Given the description of an element on the screen output the (x, y) to click on. 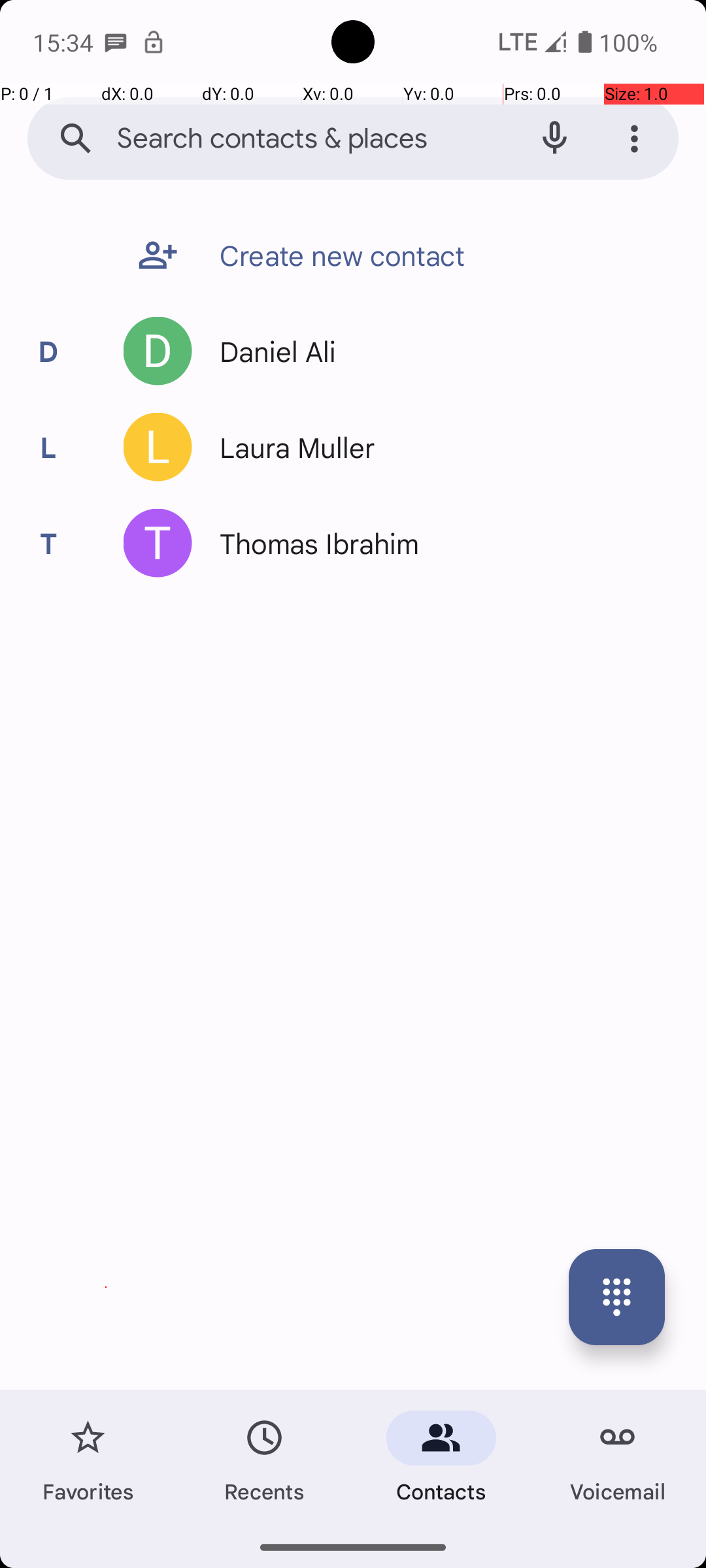
key pad Element type: android.widget.ImageButton (616, 1297)
Recents Element type: android.widget.FrameLayout (264, 1457)
Voicemail Element type: android.widget.FrameLayout (617, 1457)
Create new contact Element type: android.widget.TextView (335, 254)
Quick contact for Daniel Ali Element type: android.widget.QuickContactBadge (157, 350)
Daniel Ali Element type: android.widget.TextView (270, 350)
Quick contact for Laura Muller Element type: android.widget.QuickContactBadge (157, 446)
Laura Muller Element type: android.widget.TextView (290, 446)
Quick contact for Thomas Ibrahim Element type: android.widget.QuickContactBadge (157, 542)
Thomas Ibrahim Element type: android.widget.TextView (312, 542)
Tasks notification: Connection security Element type: android.widget.ImageView (153, 41)
